Given the description of an element on the screen output the (x, y) to click on. 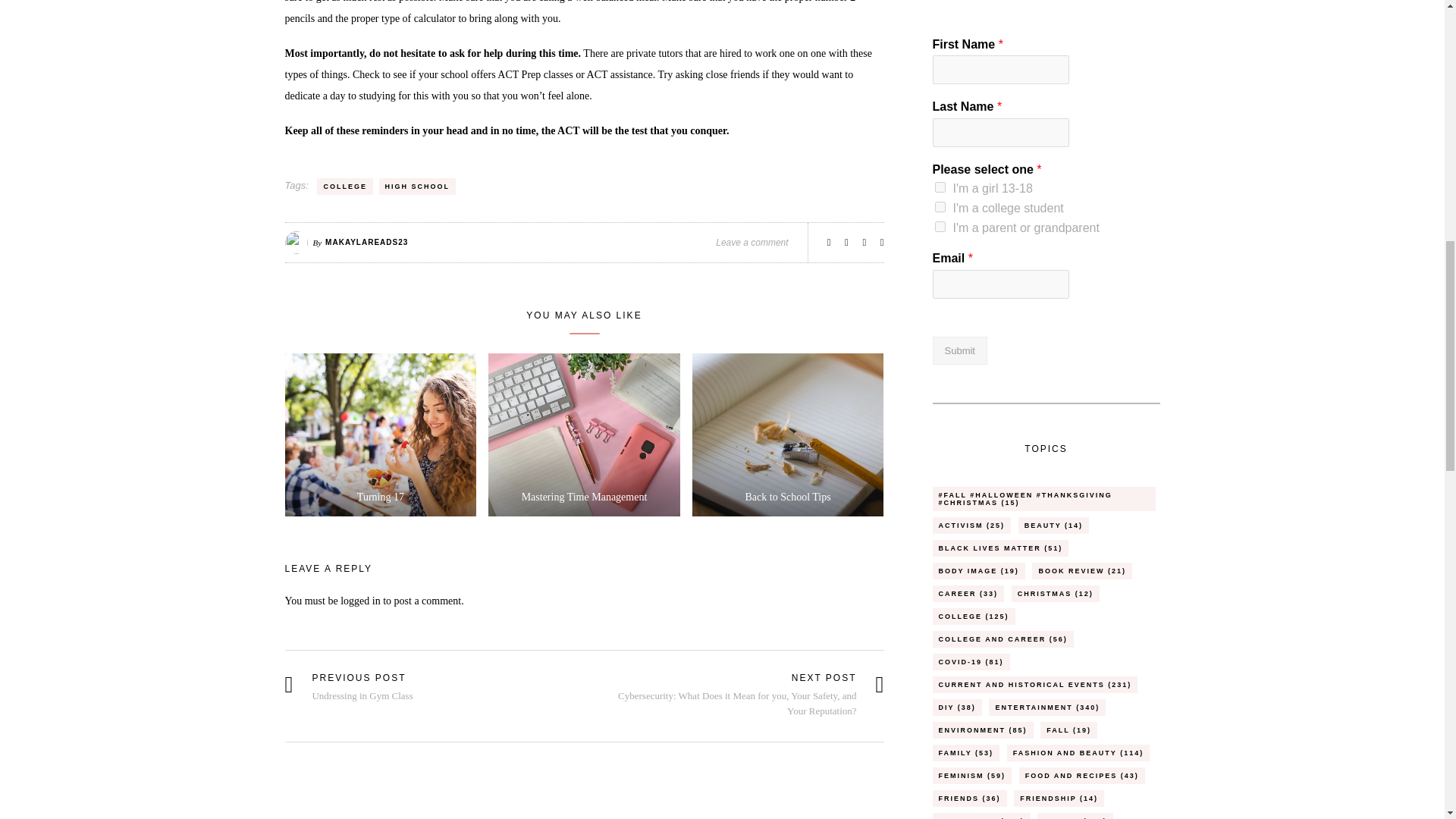
I'm a girl 13-18 (939, 186)
Posts by makaylareads23 (365, 242)
I'm a college student  (939, 206)
I'm a parent or grandparent (939, 226)
